Given the description of an element on the screen output the (x, y) to click on. 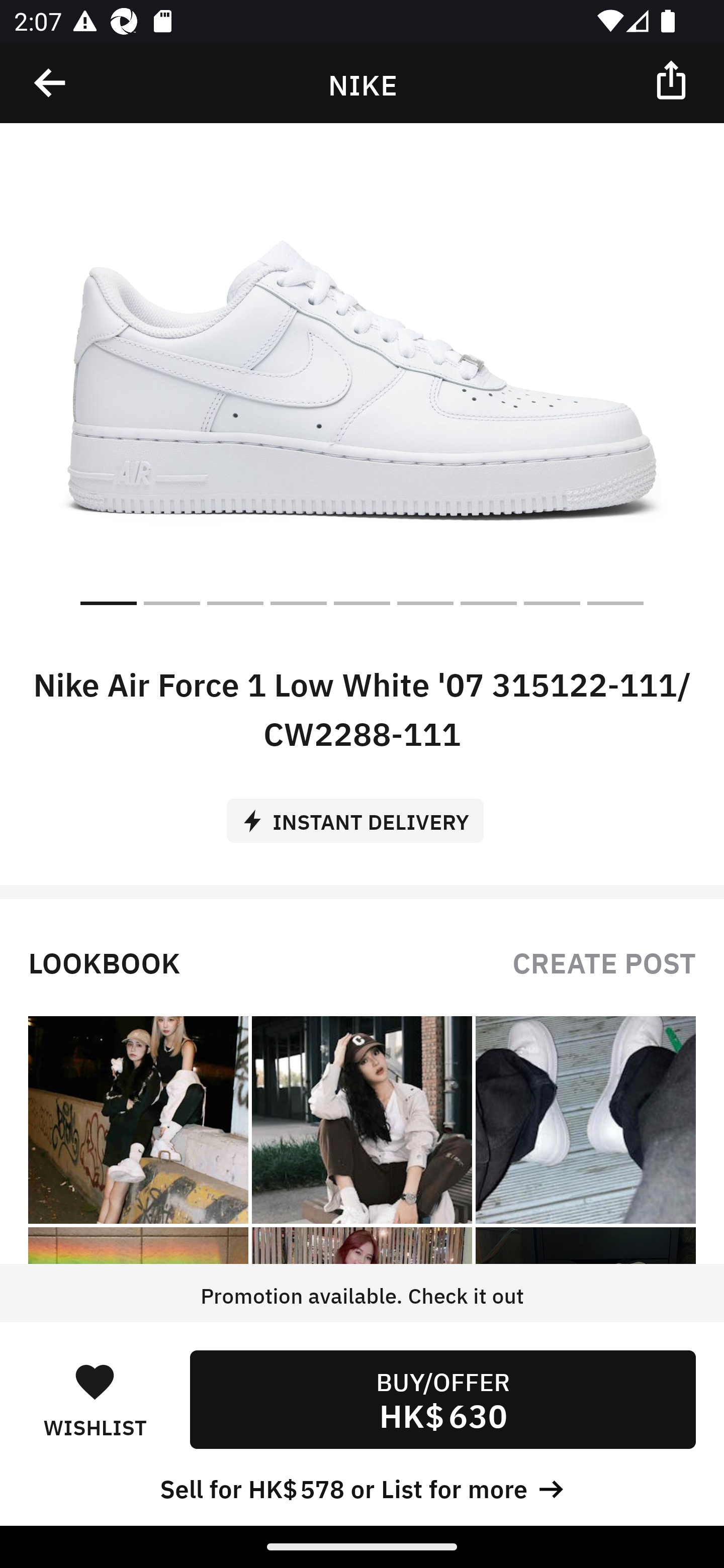
 (50, 83)
 (672, 79)
 INSTANT DELIVERY (362, 813)
CREATE POST (603, 960)
BUY/OFFER HK$ 630 (442, 1399)
󰋑 (94, 1380)
Sell for HK$ 578 or List for more (361, 1486)
